Given the description of an element on the screen output the (x, y) to click on. 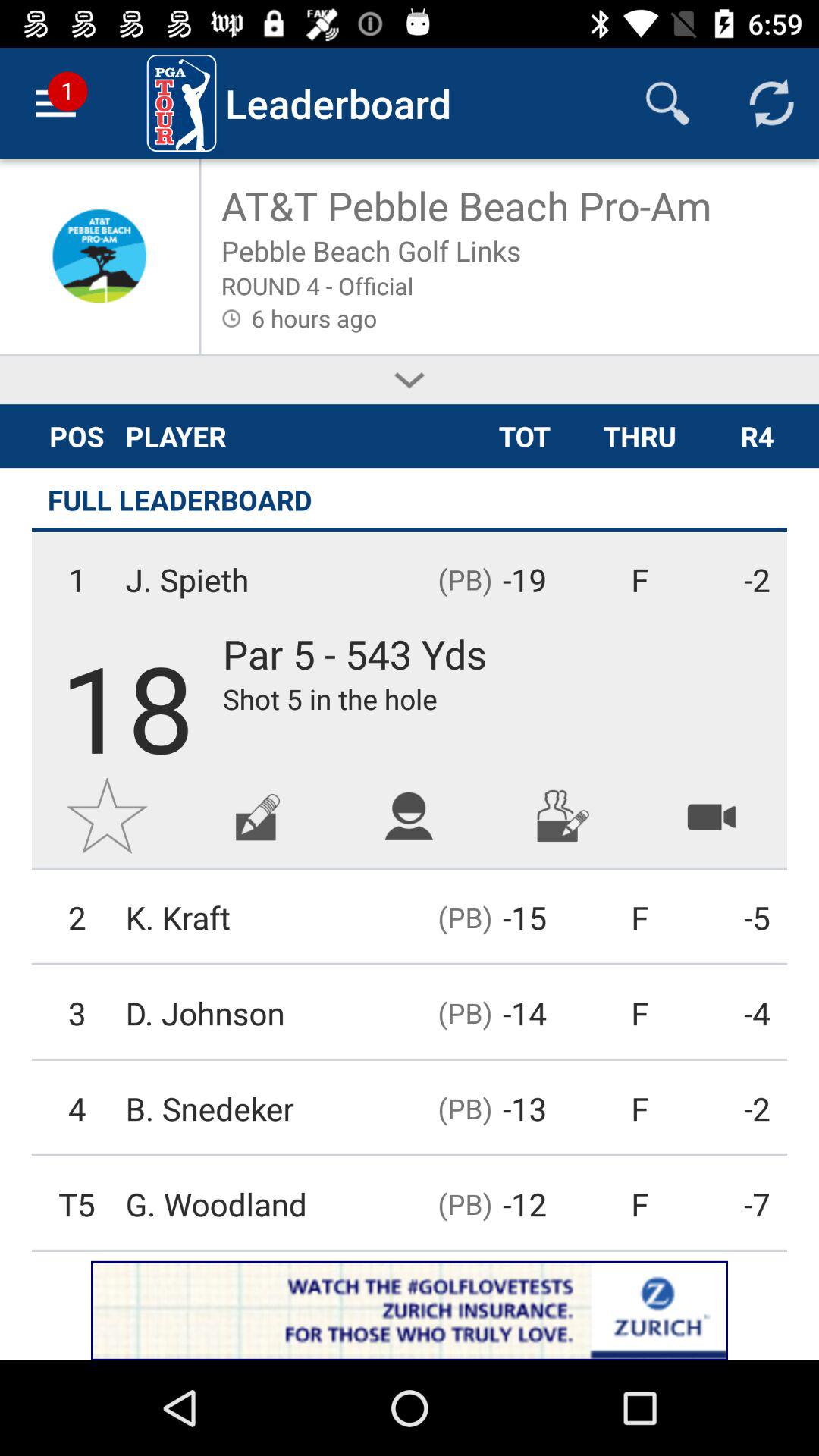
view highlight button (711, 815)
